Given the description of an element on the screen output the (x, y) to click on. 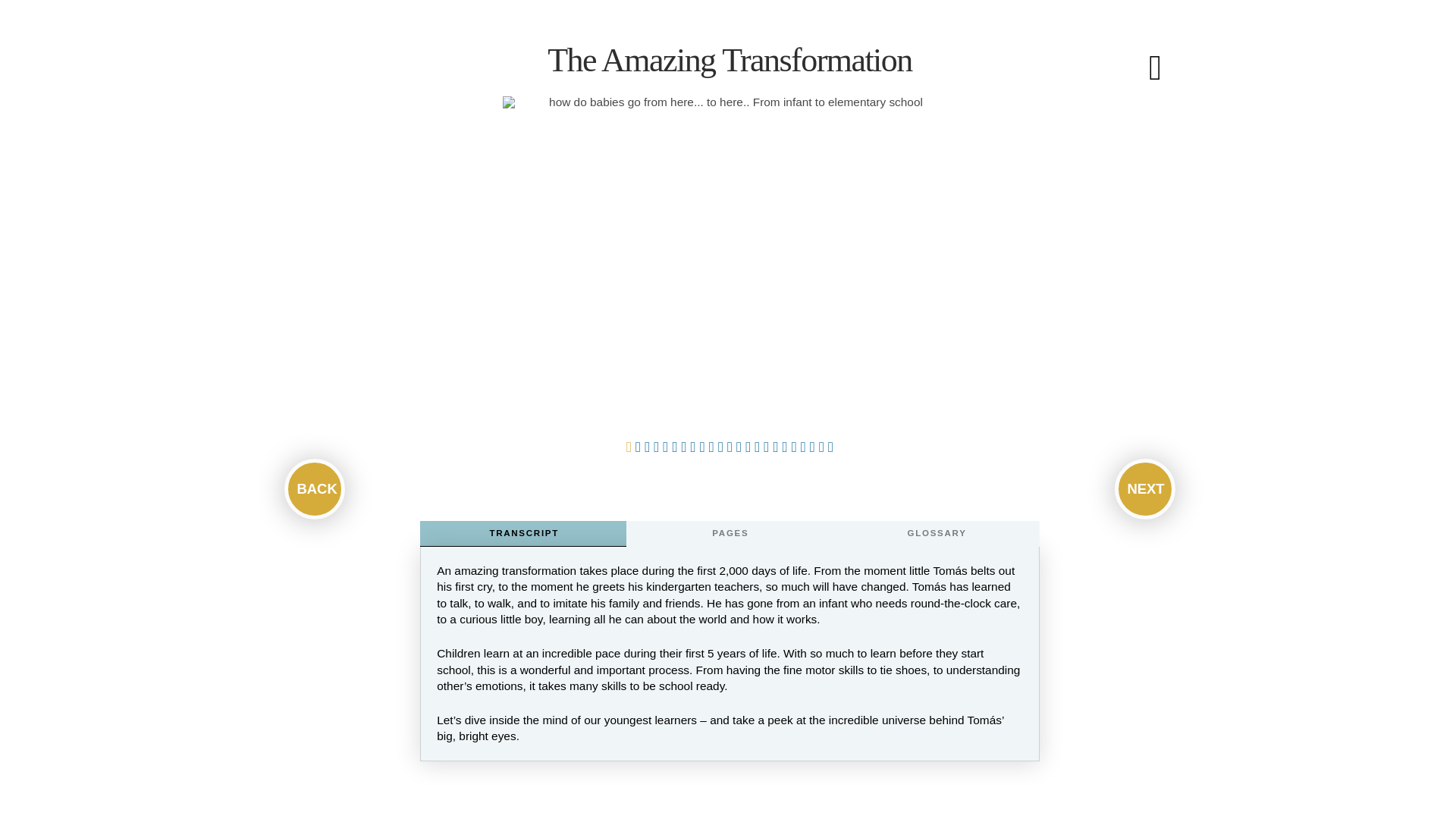
NEXT (1144, 488)
GLOSSARY (935, 533)
BACK (314, 488)
PAGES (729, 533)
TRANSCRIPT (523, 533)
